Given the description of an element on the screen output the (x, y) to click on. 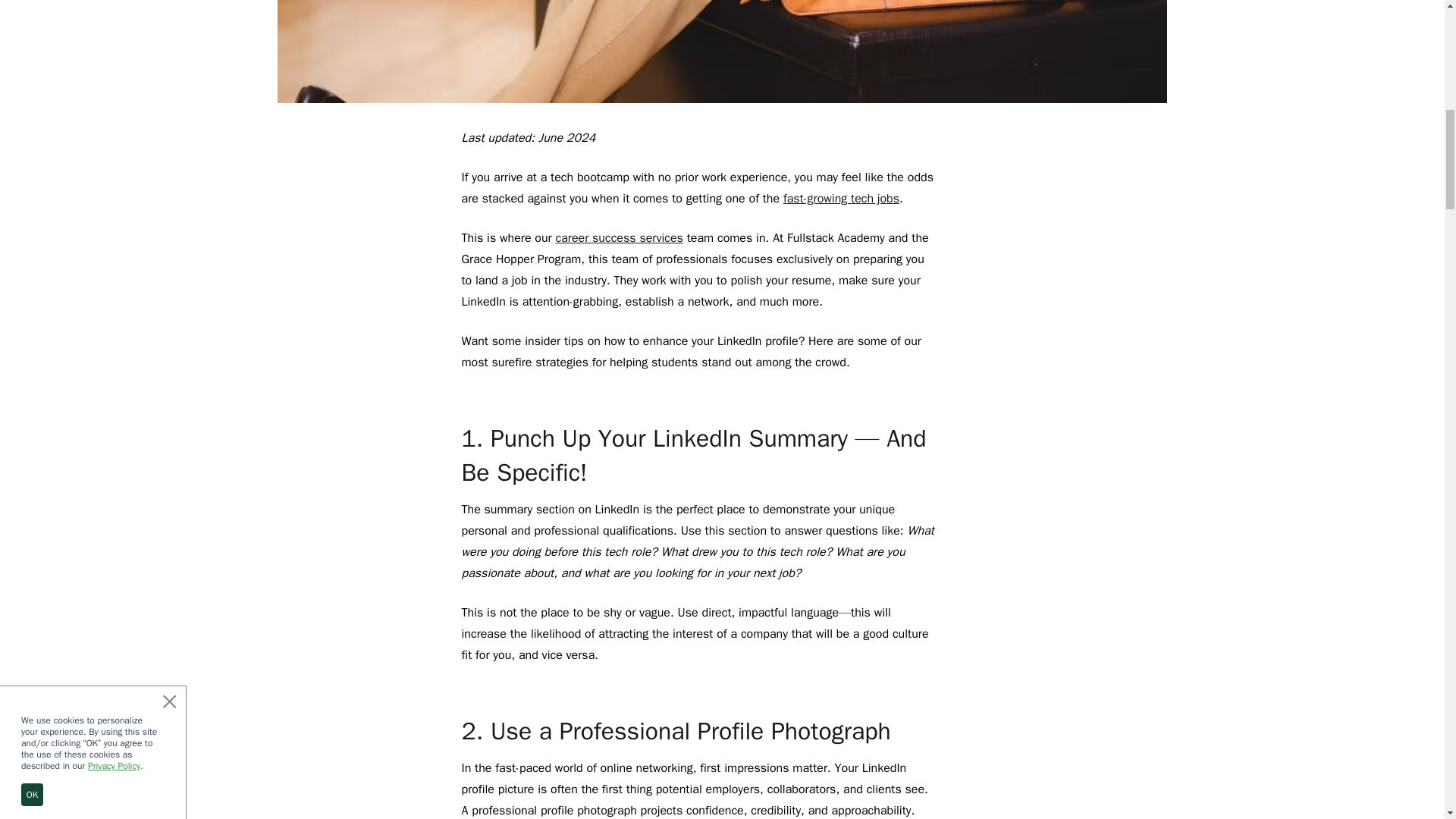
career success services (618, 237)
fast-growing tech jobs (841, 198)
